Given the description of an element on the screen output the (x, y) to click on. 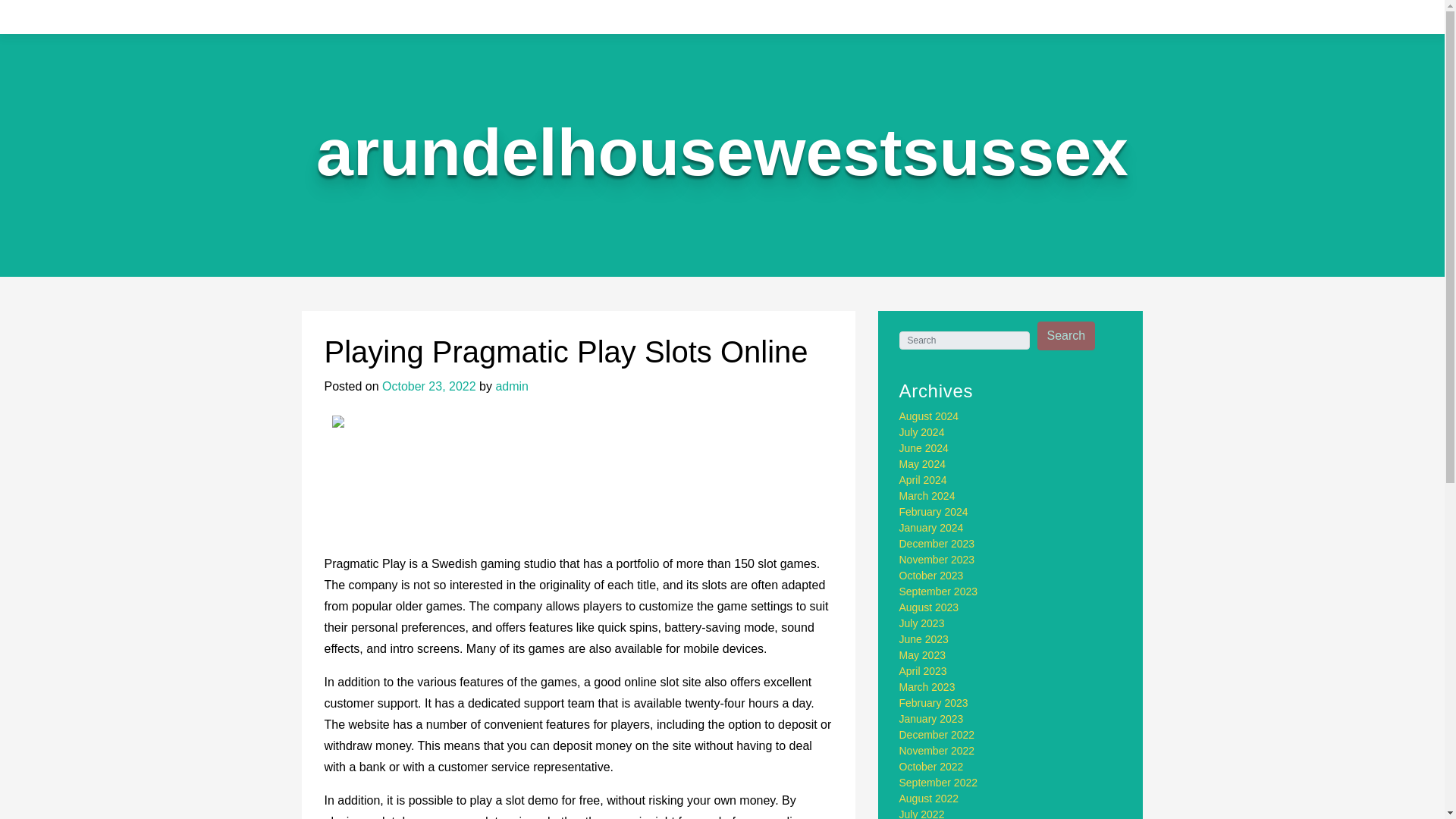
July 2022 (921, 813)
January 2024 (931, 527)
January 2023 (931, 718)
March 2023 (927, 686)
September 2022 (938, 782)
February 2024 (933, 511)
December 2022 (937, 734)
December 2023 (937, 543)
August 2024 (929, 416)
September 2023 (938, 591)
October 2023 (931, 575)
July 2023 (921, 623)
October 23, 2022 (428, 386)
June 2024 (924, 448)
February 2023 (933, 702)
